Given the description of an element on the screen output the (x, y) to click on. 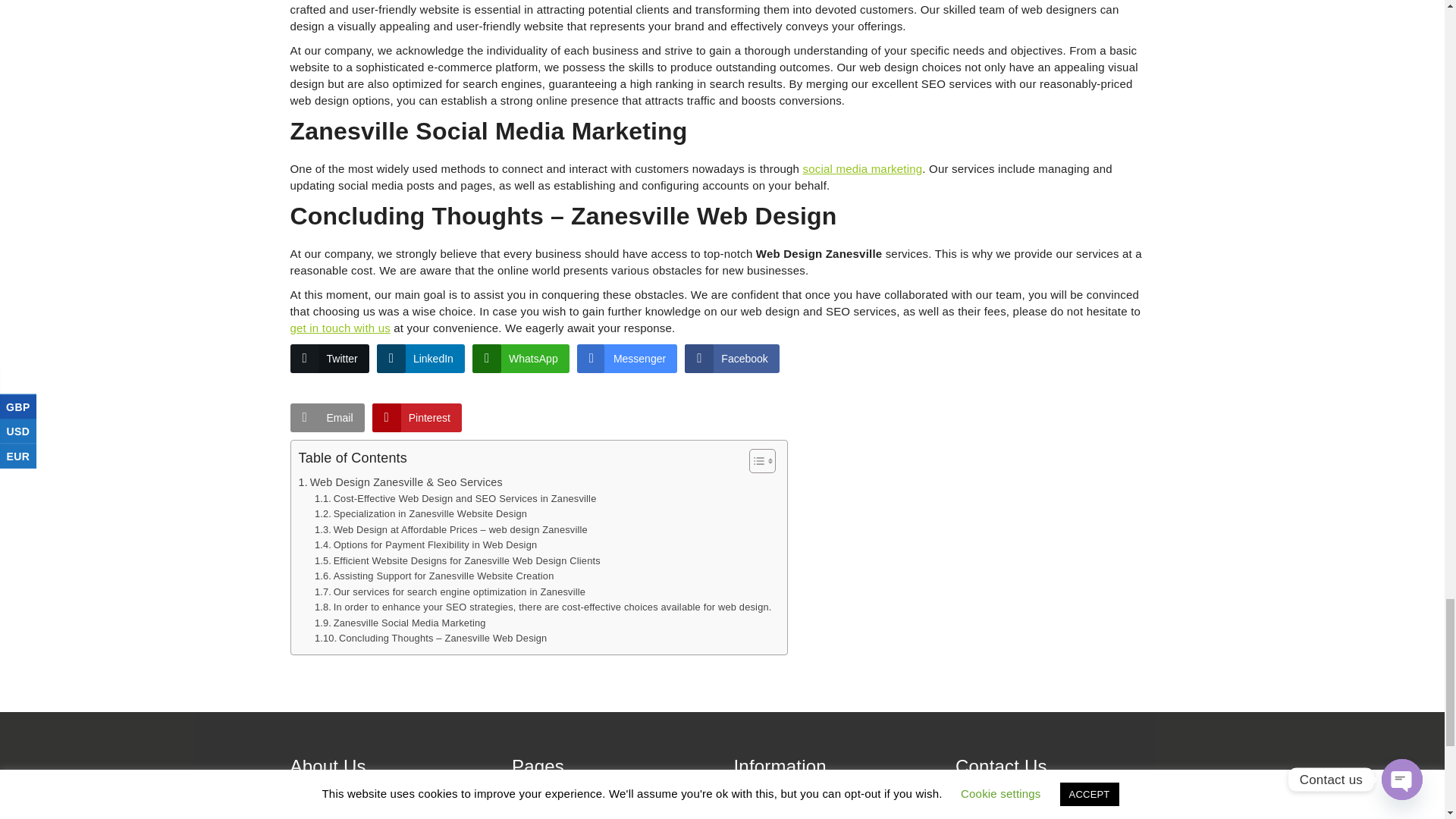
Assisting Support for Zanesville Website Creation (434, 576)
Options for Payment Flexibility in Web Design (425, 545)
Specialization in Zanesville Website Design (420, 514)
Our services for search engine optimization in Zanesville (449, 592)
Efficient Website Designs for Zanesville Web Design Clients (456, 561)
Zanesville Social Media Marketing (400, 623)
Cost-Effective Web Design and SEO Services in Zanesville (455, 498)
